Given the description of an element on the screen output the (x, y) to click on. 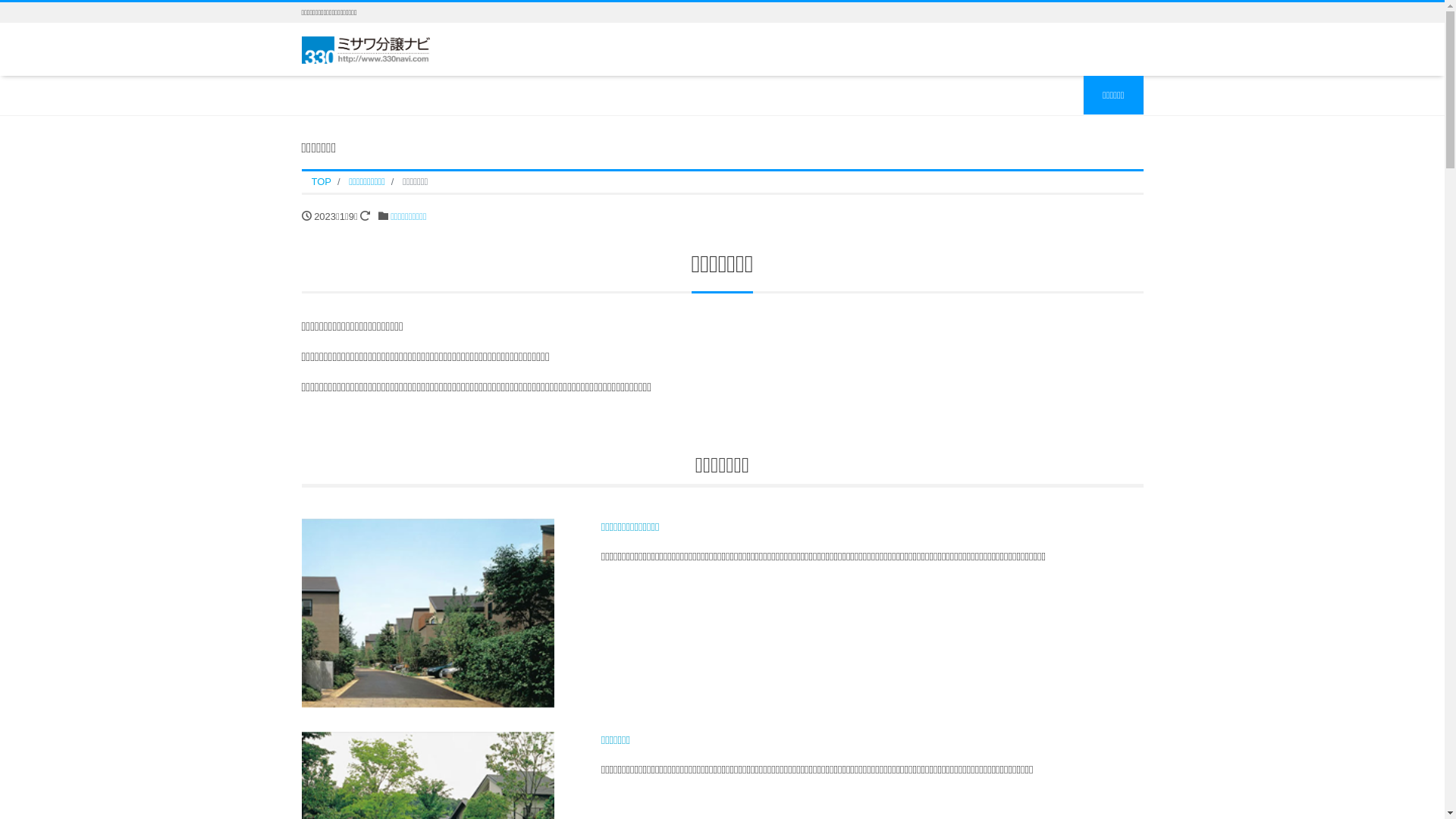
 2023/01/09 11:17 Element type: hover (306, 215)
 2023/03/16 10:22 Element type: hover (365, 215)
TOP Element type: text (320, 181)
